Given the description of an element on the screen output the (x, y) to click on. 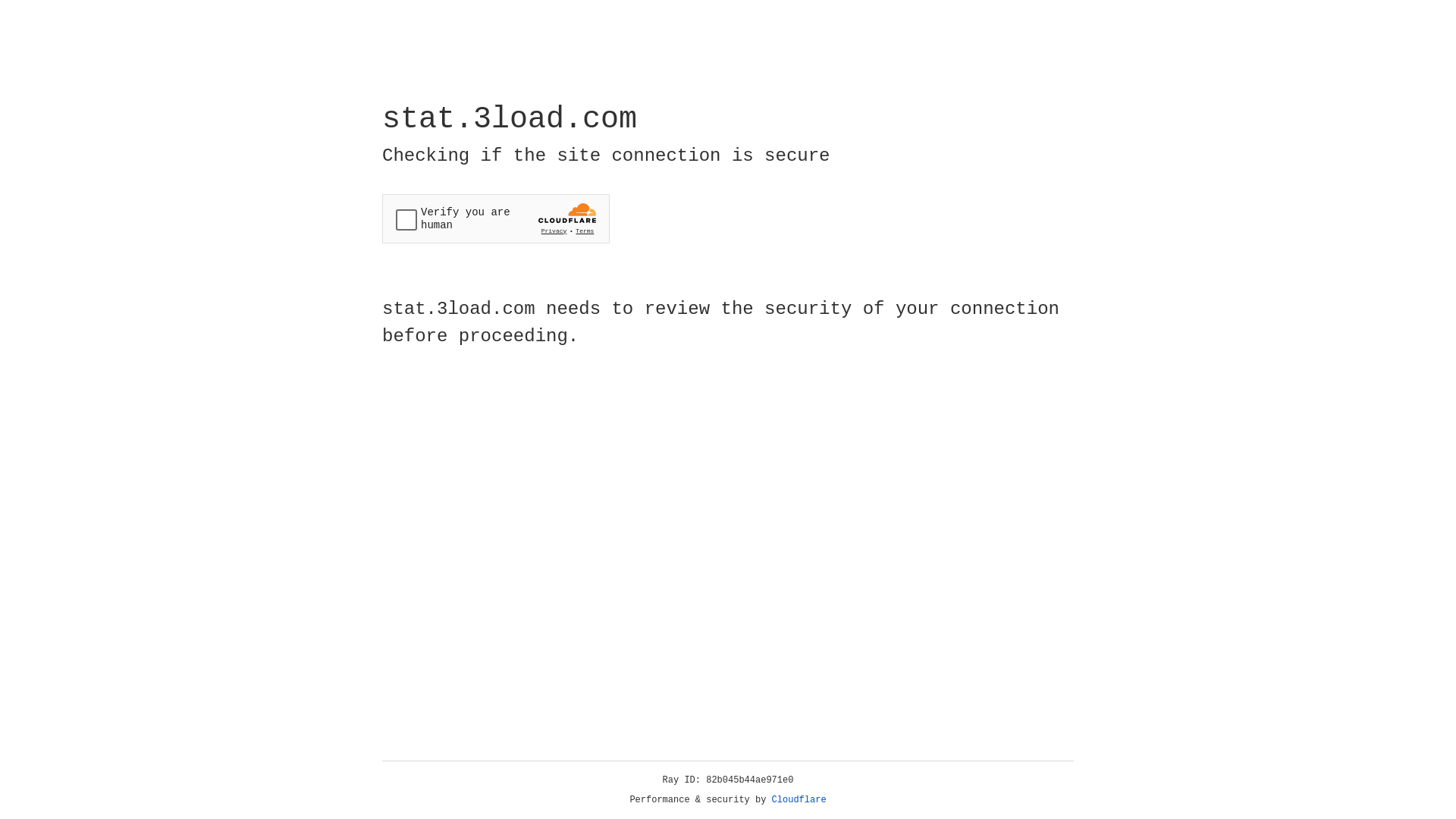
Widget containing a Cloudflare security challenge Element type: hover (495, 218)
Cloudflare Element type: text (798, 799)
